Given the description of an element on the screen output the (x, y) to click on. 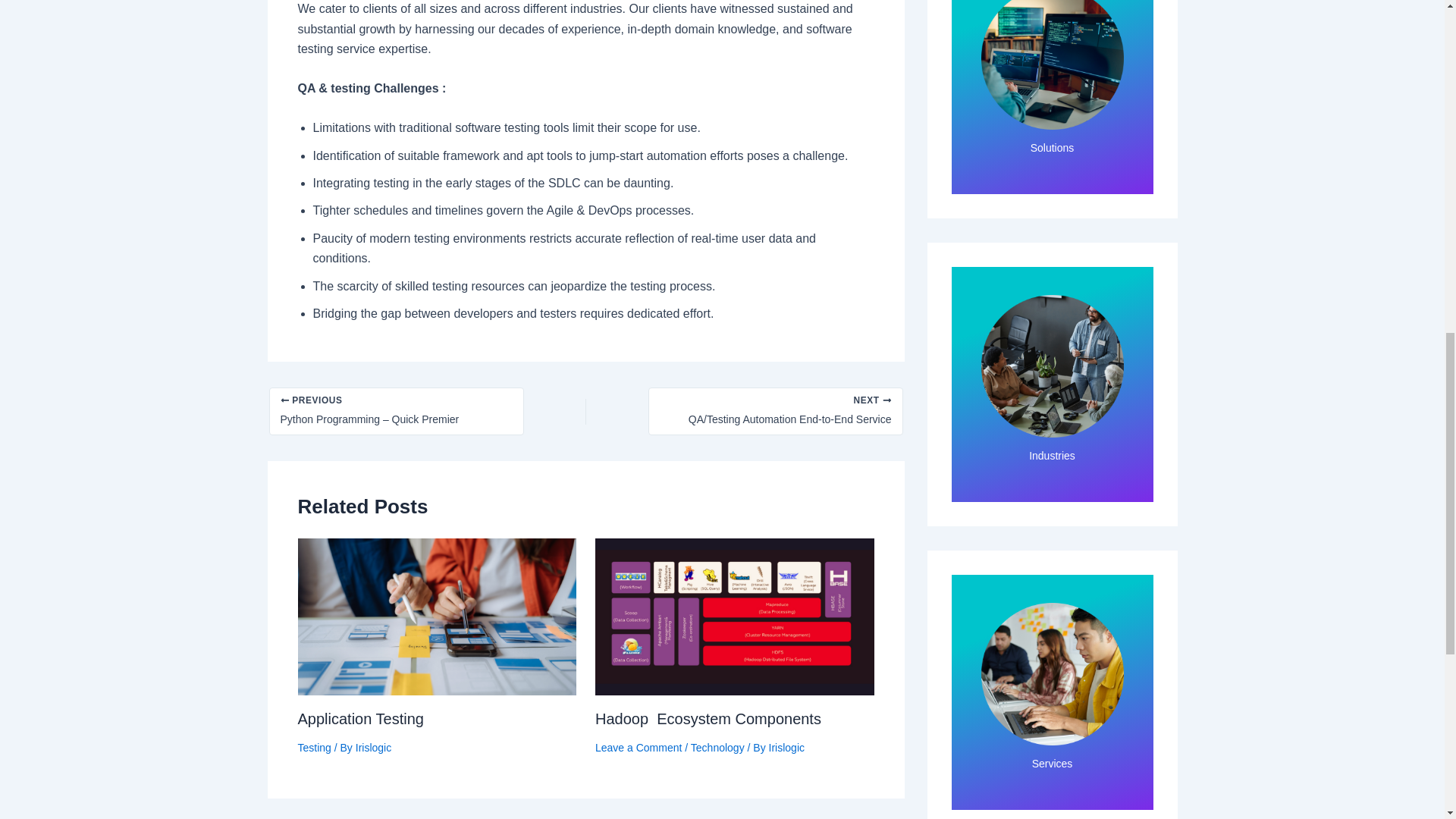
View all posts by Irislogic (373, 747)
View all posts by Irislogic (786, 747)
